Given the description of an element on the screen output the (x, y) to click on. 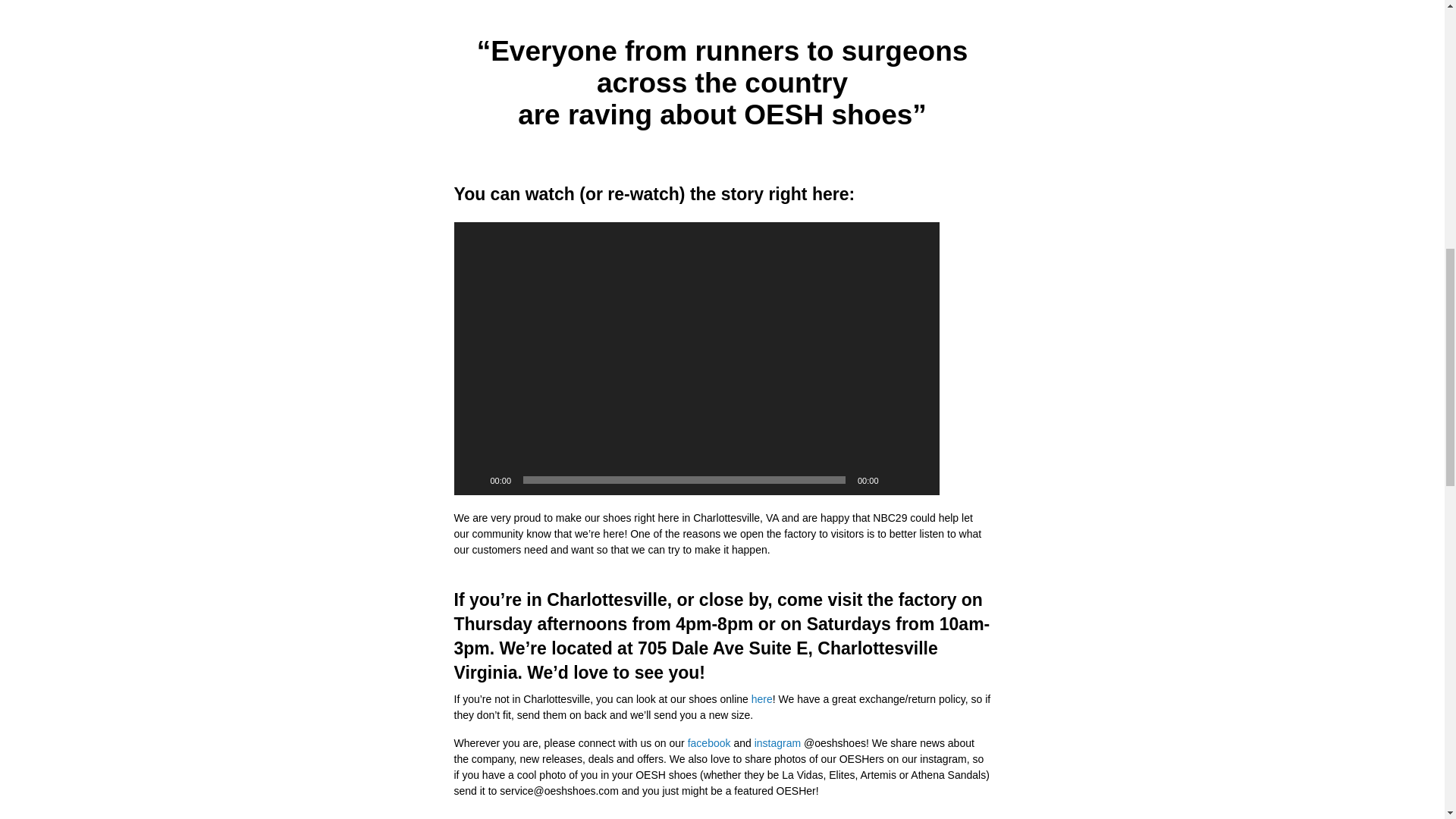
instagram (777, 743)
facebook (708, 743)
here (762, 698)
